Given the description of an element on the screen output the (x, y) to click on. 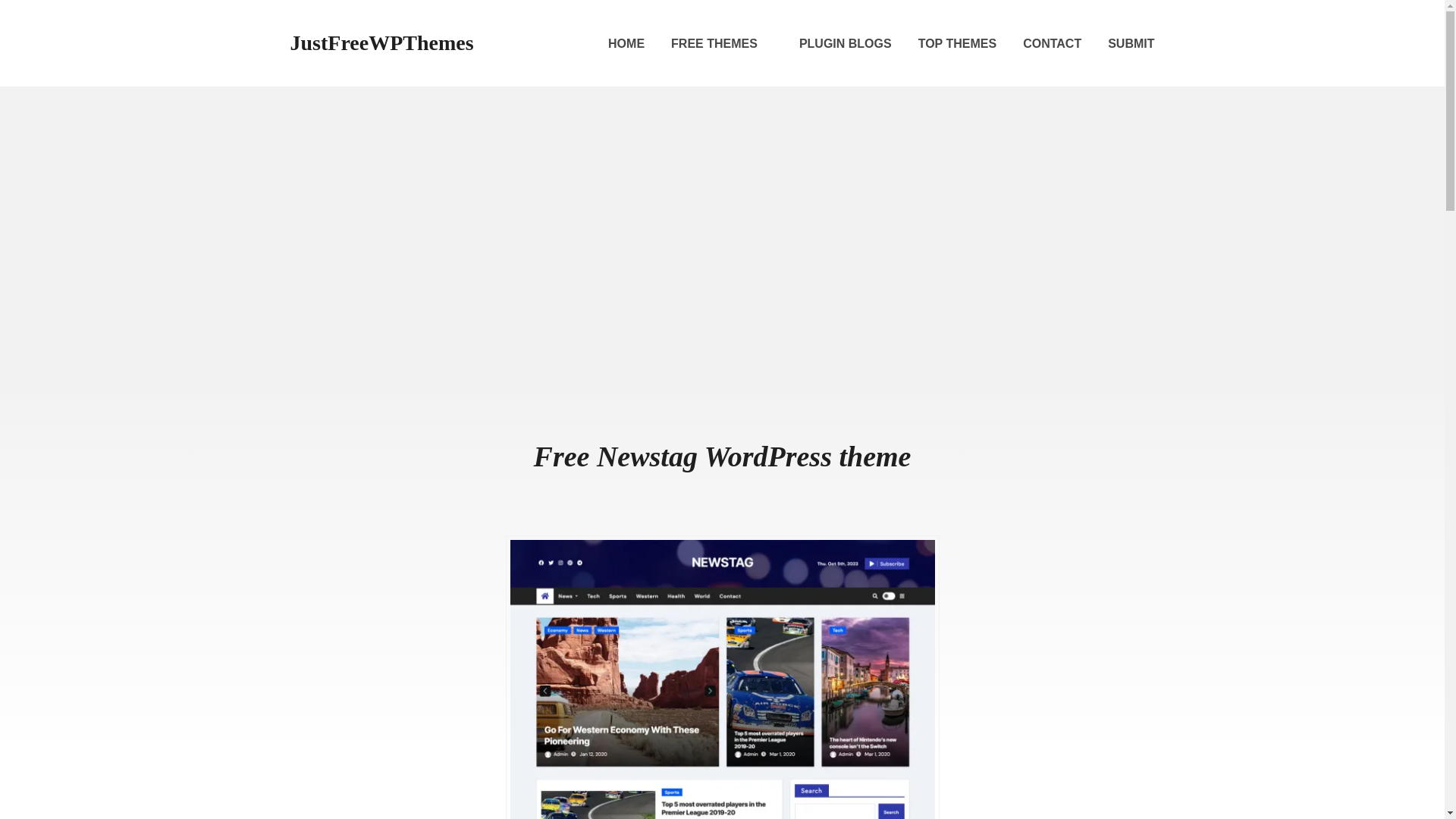
HOME (626, 44)
CONTACT (1052, 44)
FREE THEMES (722, 44)
JustFreeWPThemes (381, 42)
PLUGIN BLOGS (845, 44)
SUBMIT (1131, 44)
TOP THEMES (956, 44)
